Given the description of an element on the screen output the (x, y) to click on. 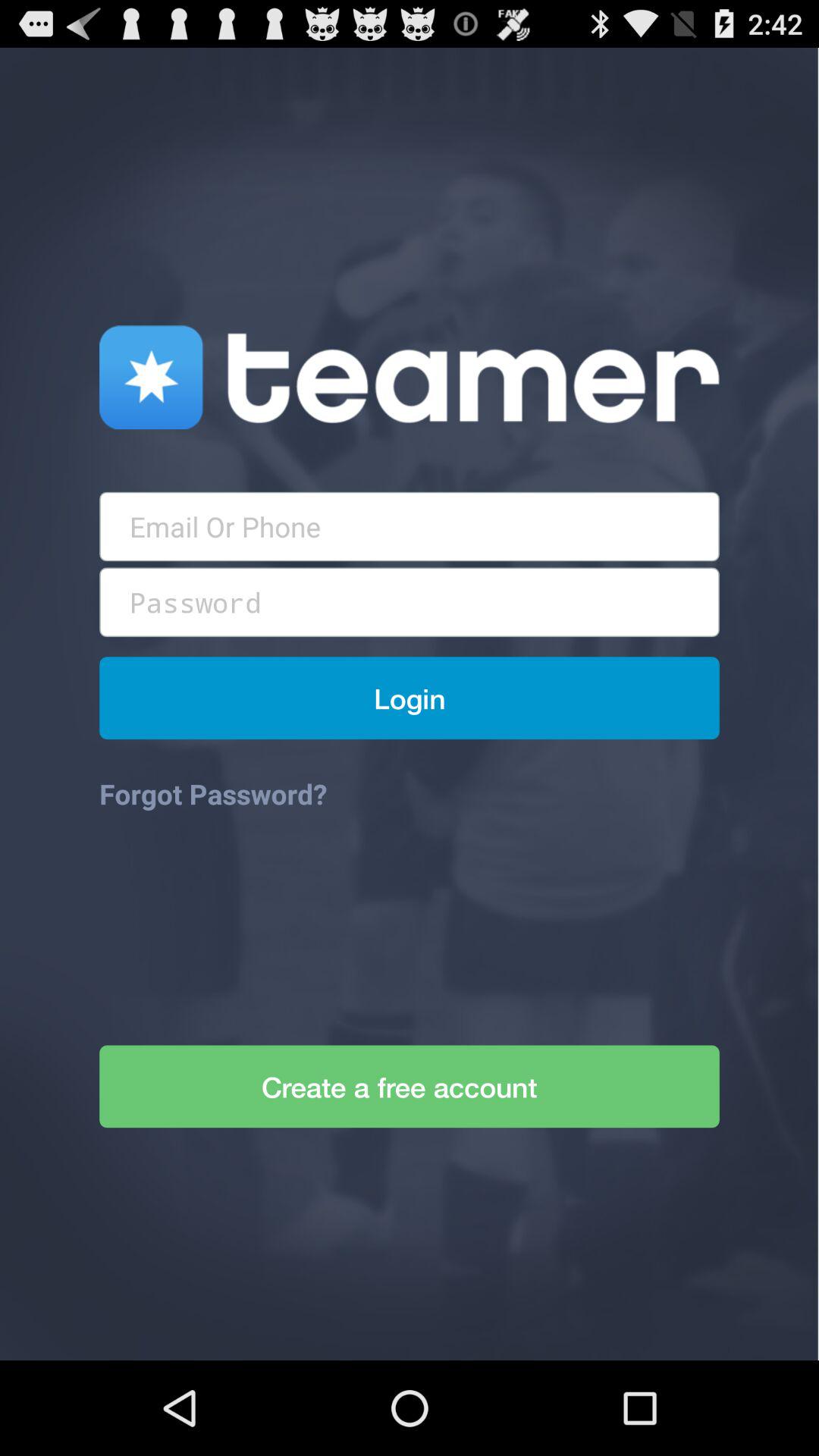
password box option (409, 602)
